Given the description of an element on the screen output the (x, y) to click on. 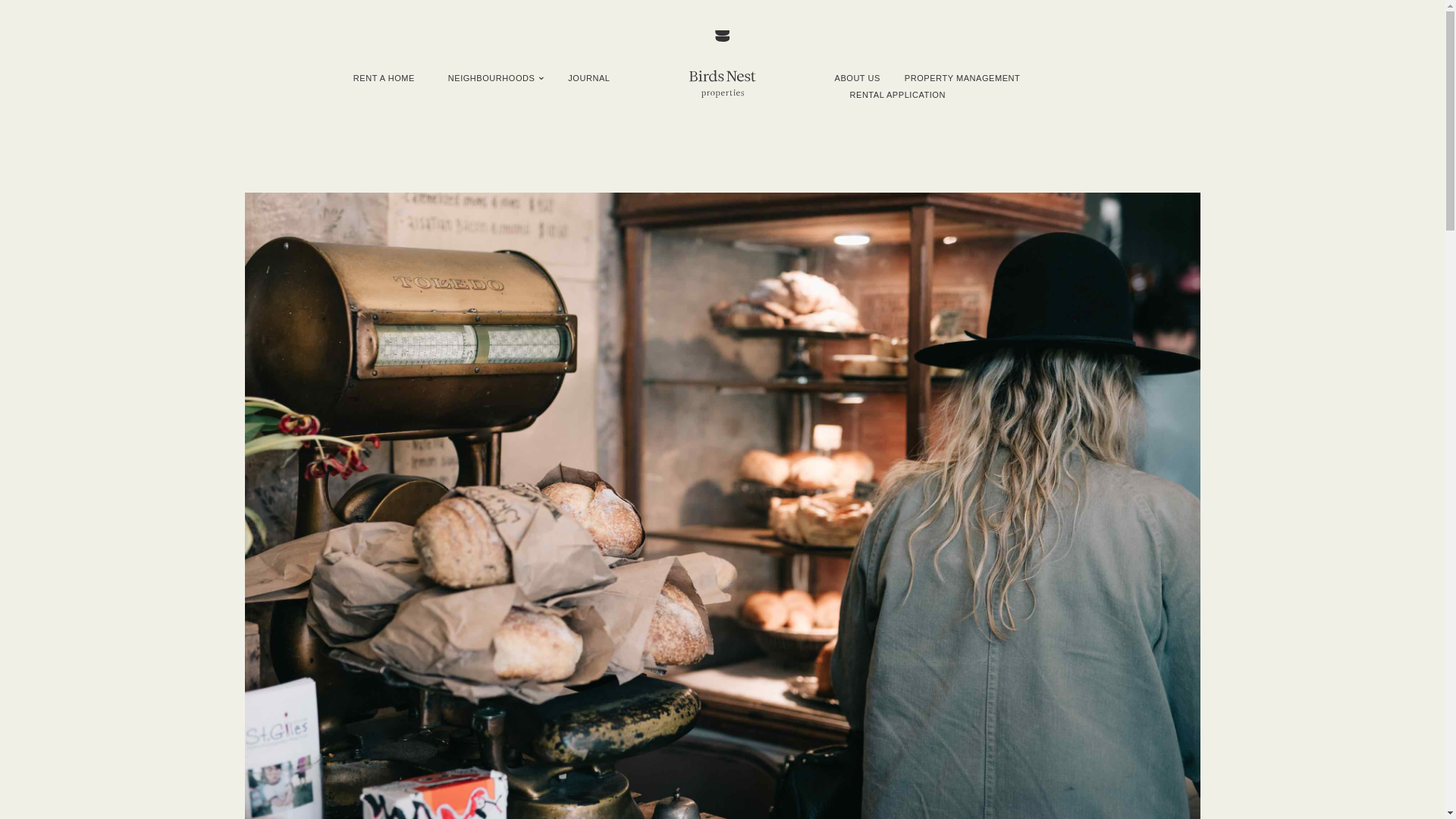
ABOUT US (856, 77)
JOURNAL (588, 77)
NEIGHBOURHOODS (491, 77)
RENTAL APPLICATION (896, 94)
PROPERTY MANAGEMENT (962, 77)
RENT A HOME (383, 77)
